Given the description of an element on the screen output the (x, y) to click on. 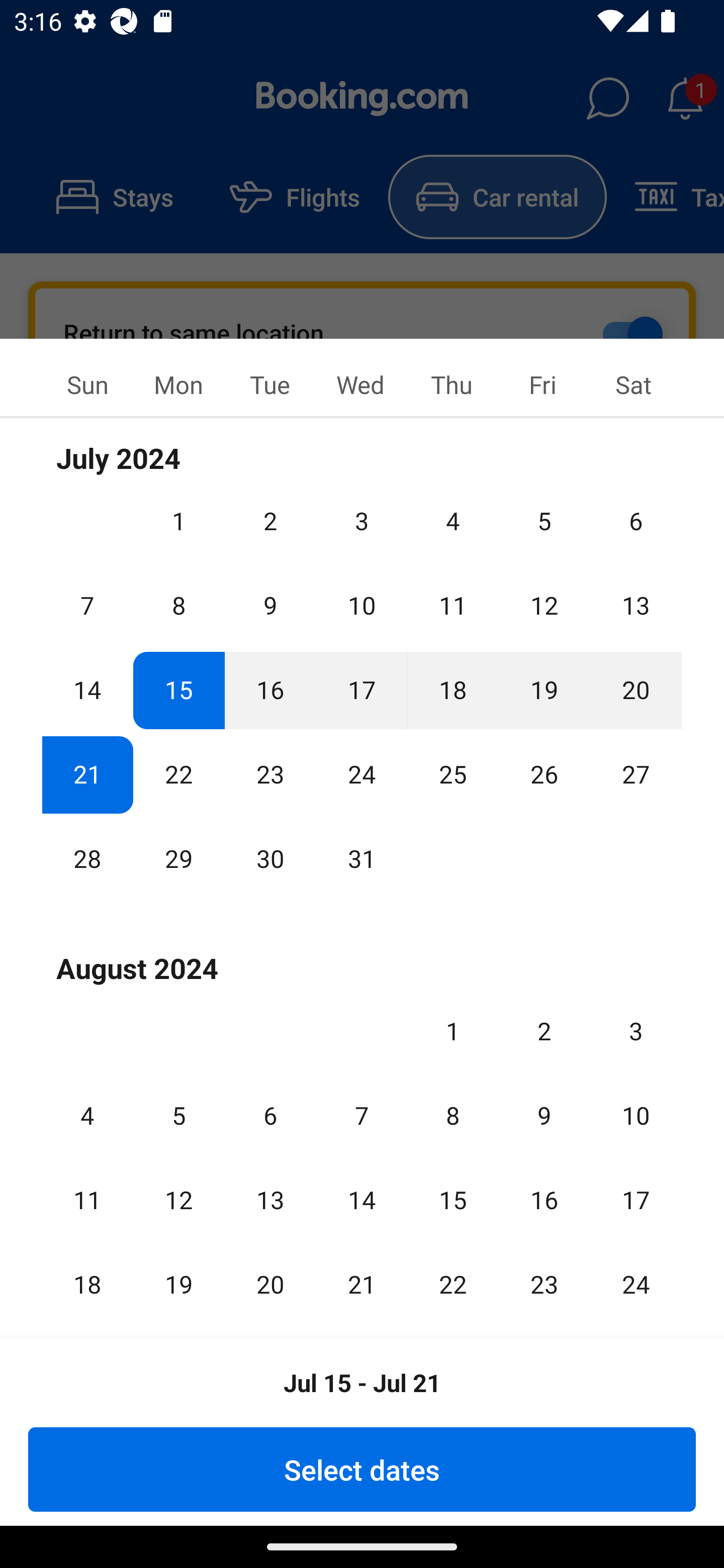
Select dates (361, 1468)
